Given the description of an element on the screen output the (x, y) to click on. 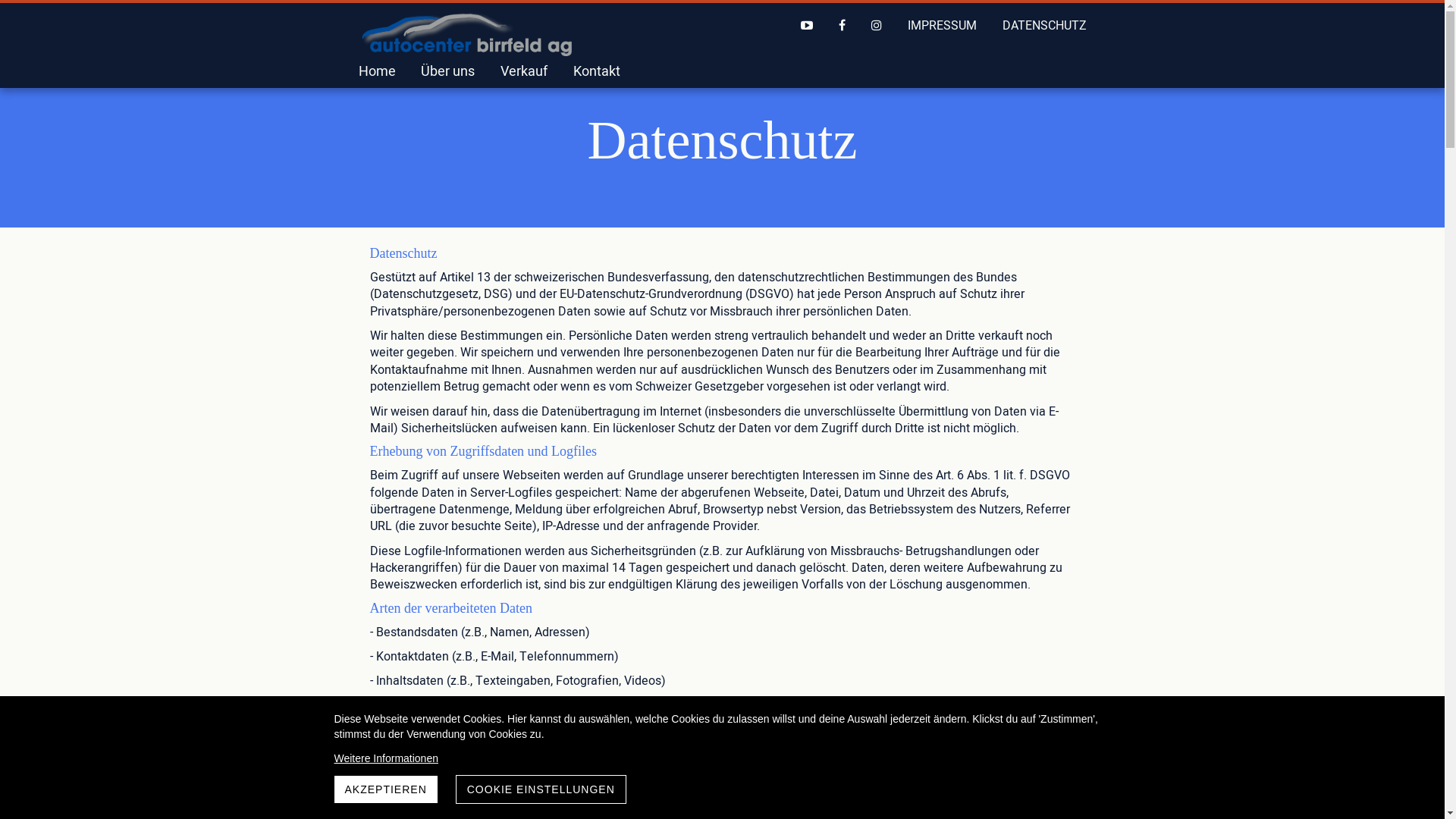
Weitere Informationen Element type: text (721, 757)
DATENSCHUTZ Element type: text (1044, 25)
COOKIE EINSTELLUNGEN Element type: text (540, 789)
AKZEPTIEREN Element type: text (384, 789)
Kontakt Element type: text (596, 71)
IMPRESSUM Element type: text (941, 25)
Home Element type: text (376, 71)
Verkauf Element type: text (523, 71)
